Given the description of an element on the screen output the (x, y) to click on. 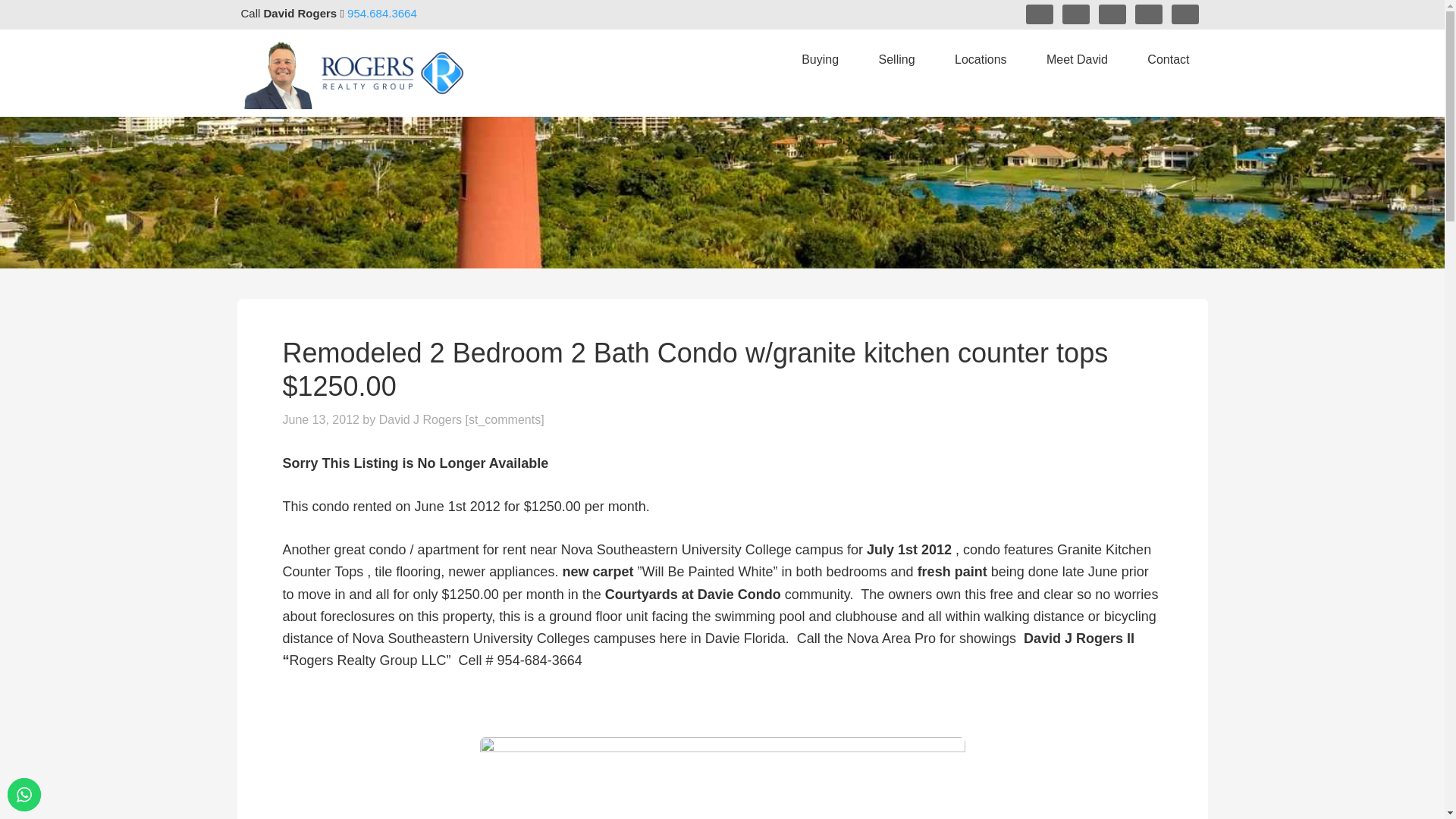
Zillow (1184, 14)
Instagram (1075, 14)
LinkedIn (1112, 14)
LinkedIn (1112, 14)
New Kitchen with wood cabinets and granite counter tops (721, 778)
Zillow (1185, 14)
Selling (896, 60)
Meet David (1076, 60)
Locations (980, 60)
Facebook (1039, 14)
